Given the description of an element on the screen output the (x, y) to click on. 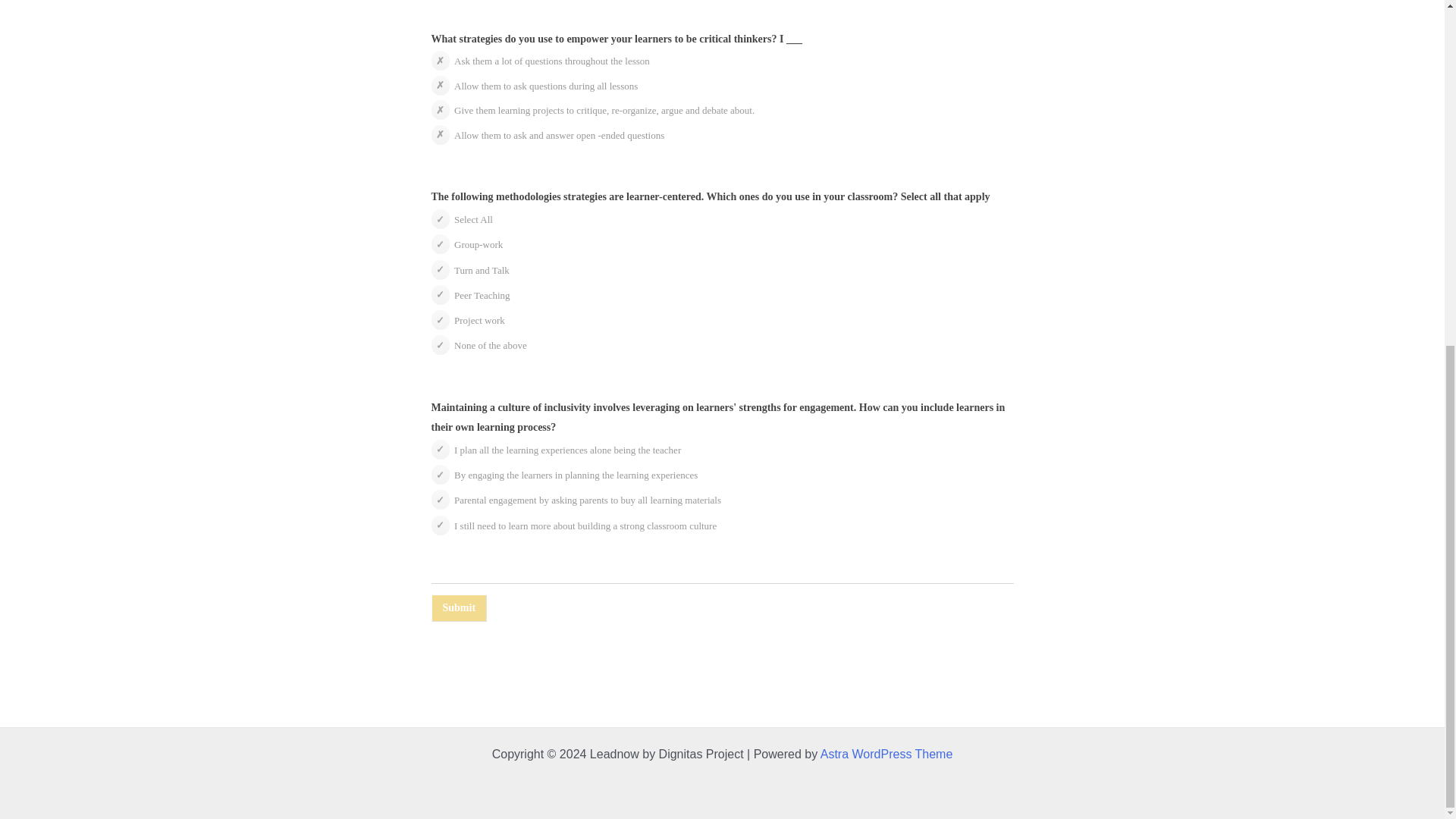
Astra WordPress Theme (887, 753)
Submit (458, 607)
Submit (458, 607)
